Given the description of an element on the screen output the (x, y) to click on. 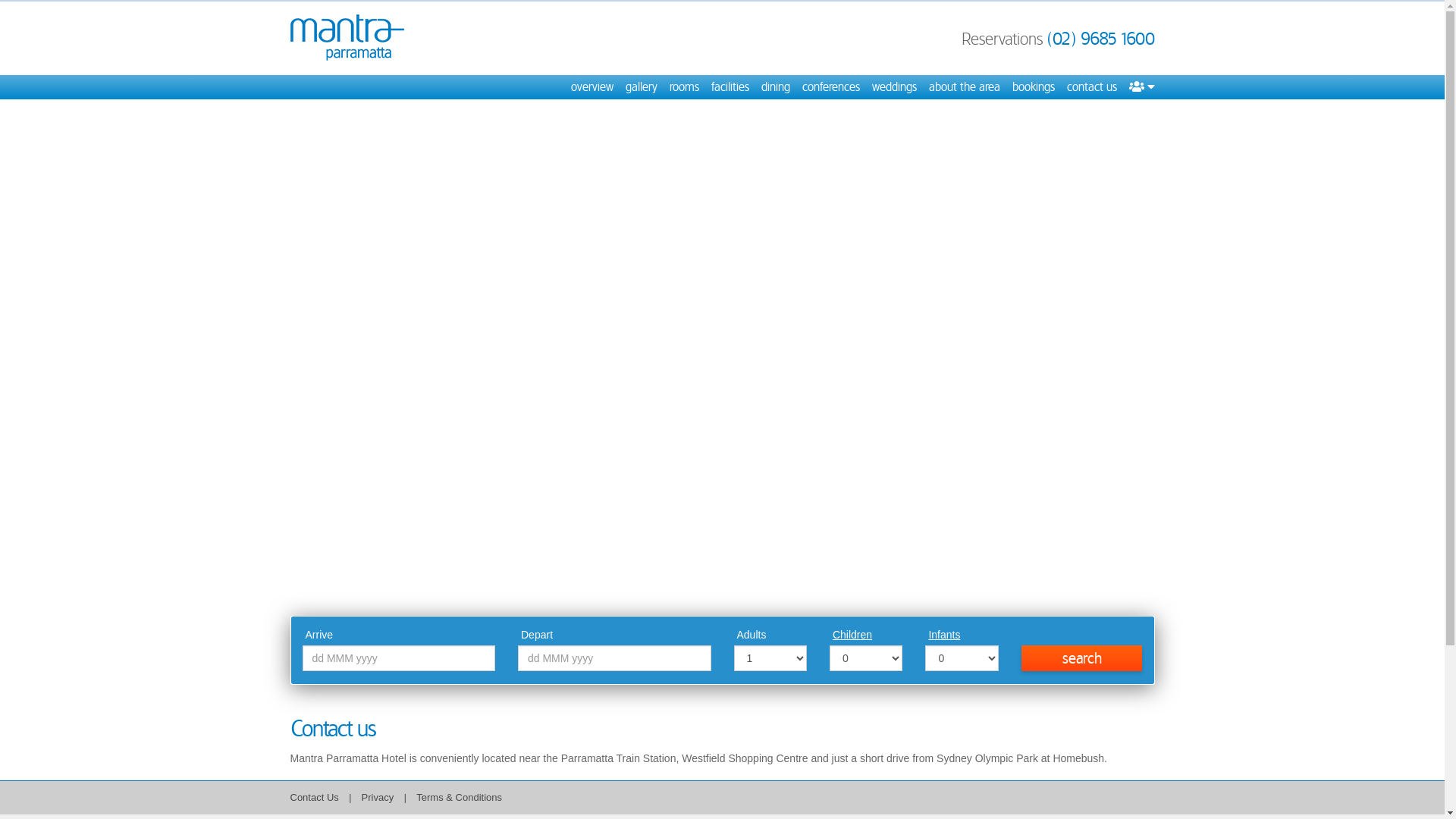
dining Element type: text (775, 87)
facilities Element type: text (730, 87)
Privacy Element type: text (378, 797)
rooms Element type: text (683, 87)
bookings Element type: text (1032, 87)
conferences Element type: text (830, 87)
search Element type: text (1081, 658)
Mantra Parramatta Hotel Element type: hover (346, 37)
overview Element type: text (591, 87)
about the area Element type: text (963, 87)
gallery Element type: text (640, 87)
Terms & Conditions Element type: text (459, 797)
Contact Us Element type: text (313, 797)
(02) 9685 1600 Element type: text (1100, 38)
contact us Element type: text (1091, 87)
weddings Element type: text (894, 87)
